Given the description of an element on the screen output the (x, y) to click on. 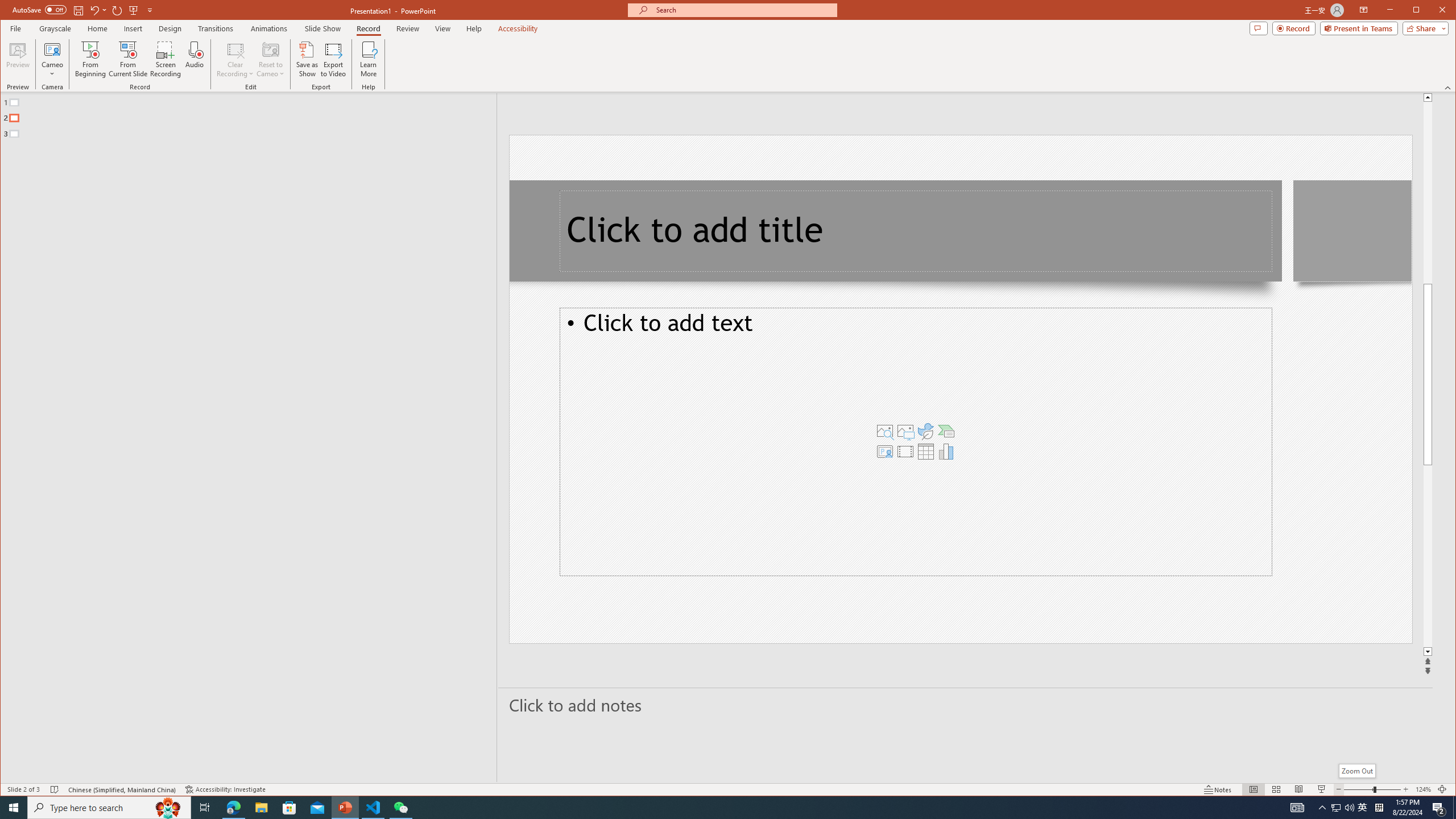
Title TextBox (915, 230)
Audio (194, 59)
Insert Video (905, 451)
Slide Notes (965, 704)
Clear Recording (234, 59)
